Given the description of an element on the screen output the (x, y) to click on. 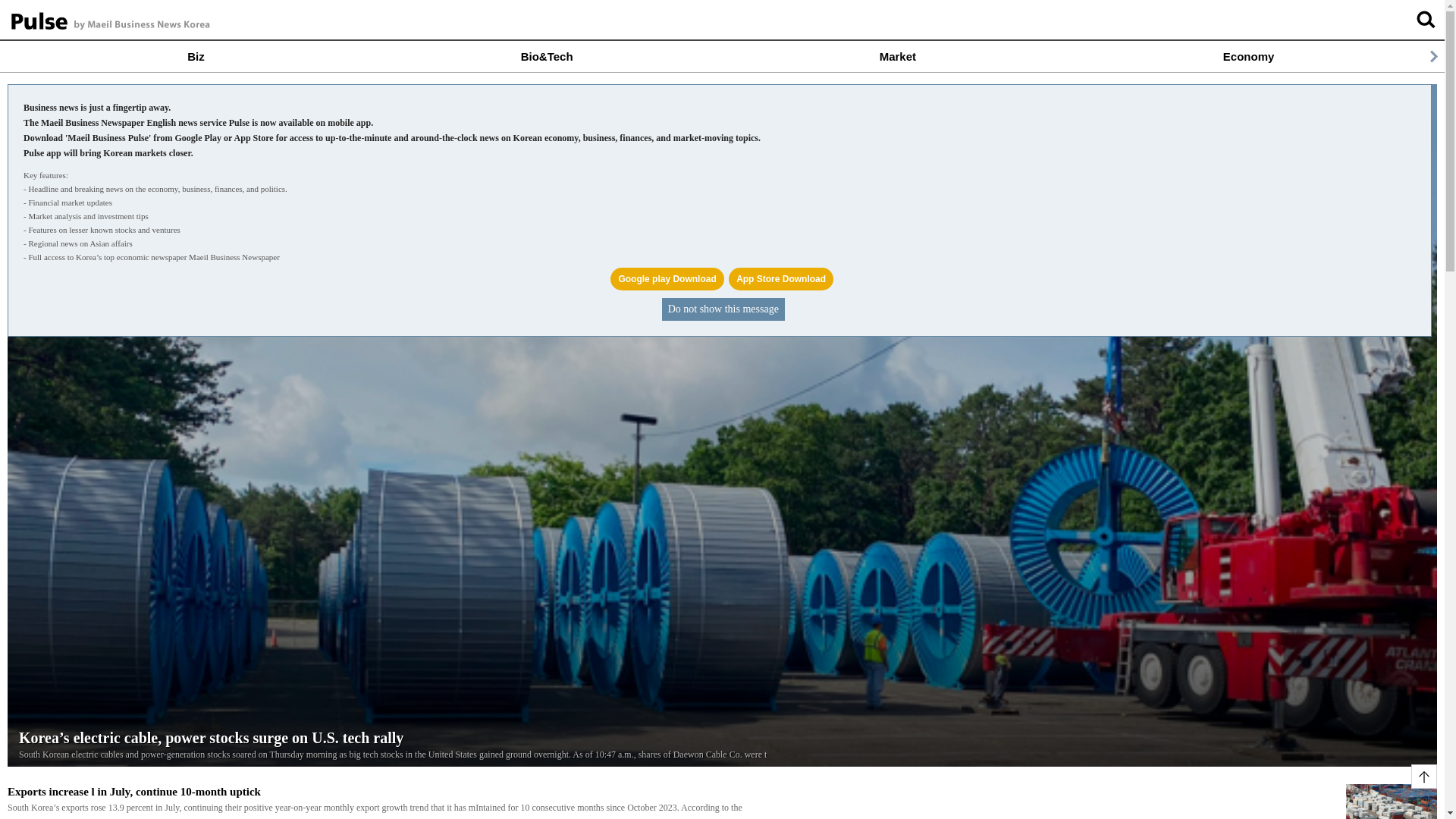
App Store Download (780, 278)
Do not show this message (723, 309)
Market (897, 56)
Google play Download (666, 278)
Biz (196, 56)
Economy (1249, 56)
